Given the description of an element on the screen output the (x, y) to click on. 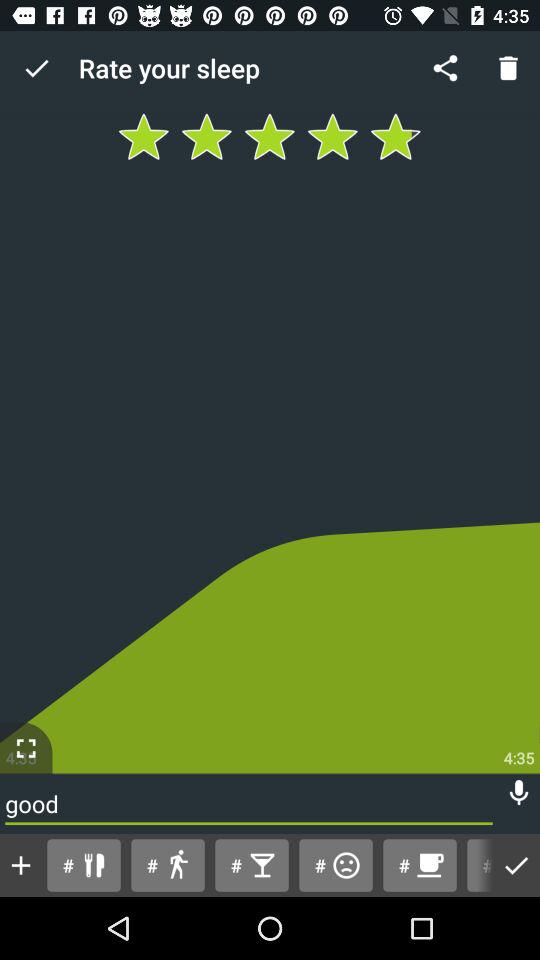
finish rating sleep (516, 865)
